Given the description of an element on the screen output the (x, y) to click on. 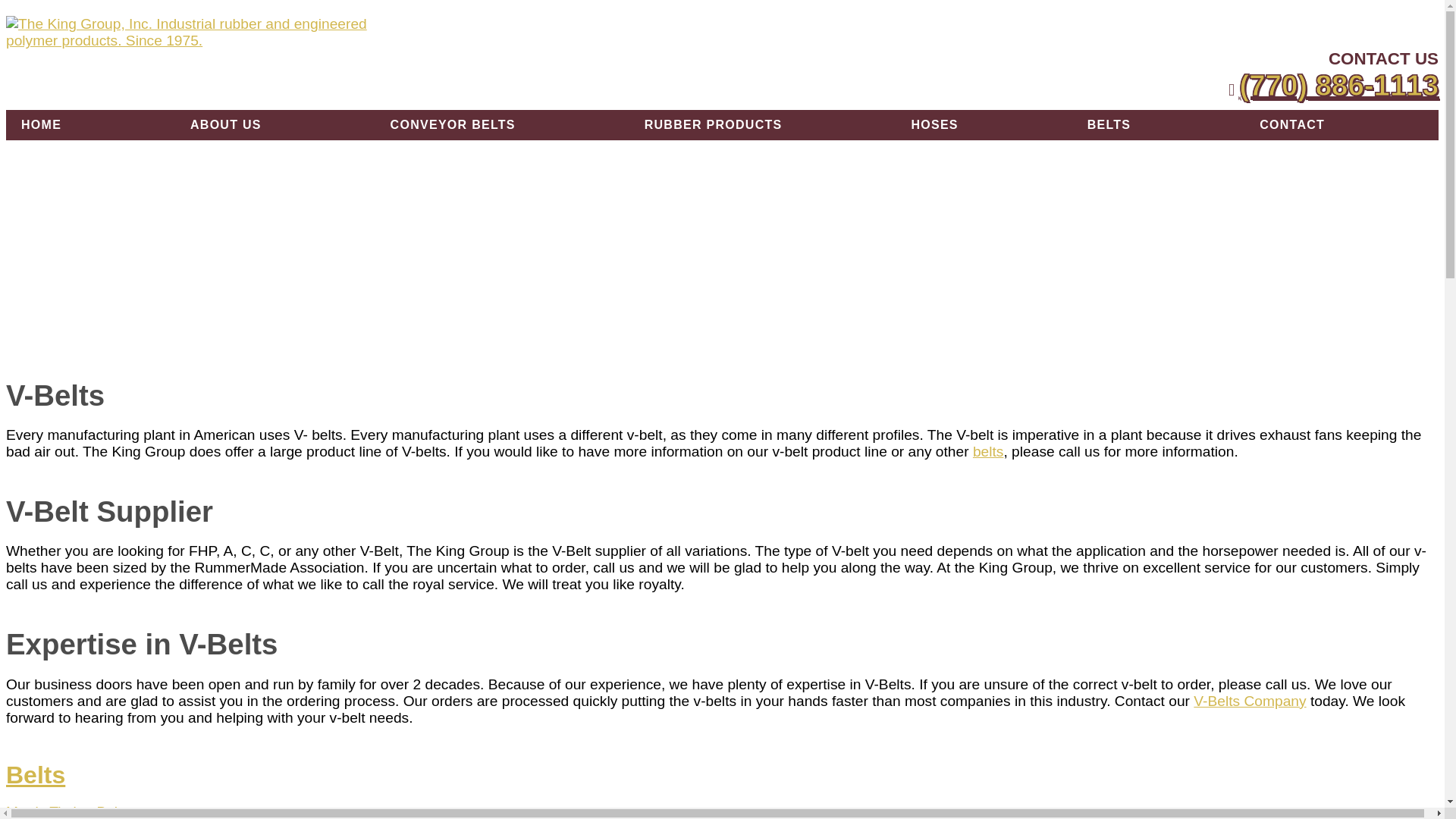
Metric Timing Belts (67, 811)
belts (988, 451)
HOME (41, 124)
Home page The King Group, Inc. (187, 40)
Atlanta GA V-Belts Company (1249, 700)
CONTACT (1291, 124)
HOSES (933, 124)
ABOUT US (225, 124)
Atlanta GA Commercial Use Belts Supplier (988, 451)
BELTS (1109, 124)
V-Belts Company (1249, 700)
CONVEYOR BELTS (453, 124)
Belts (35, 774)
